Given the description of an element on the screen output the (x, y) to click on. 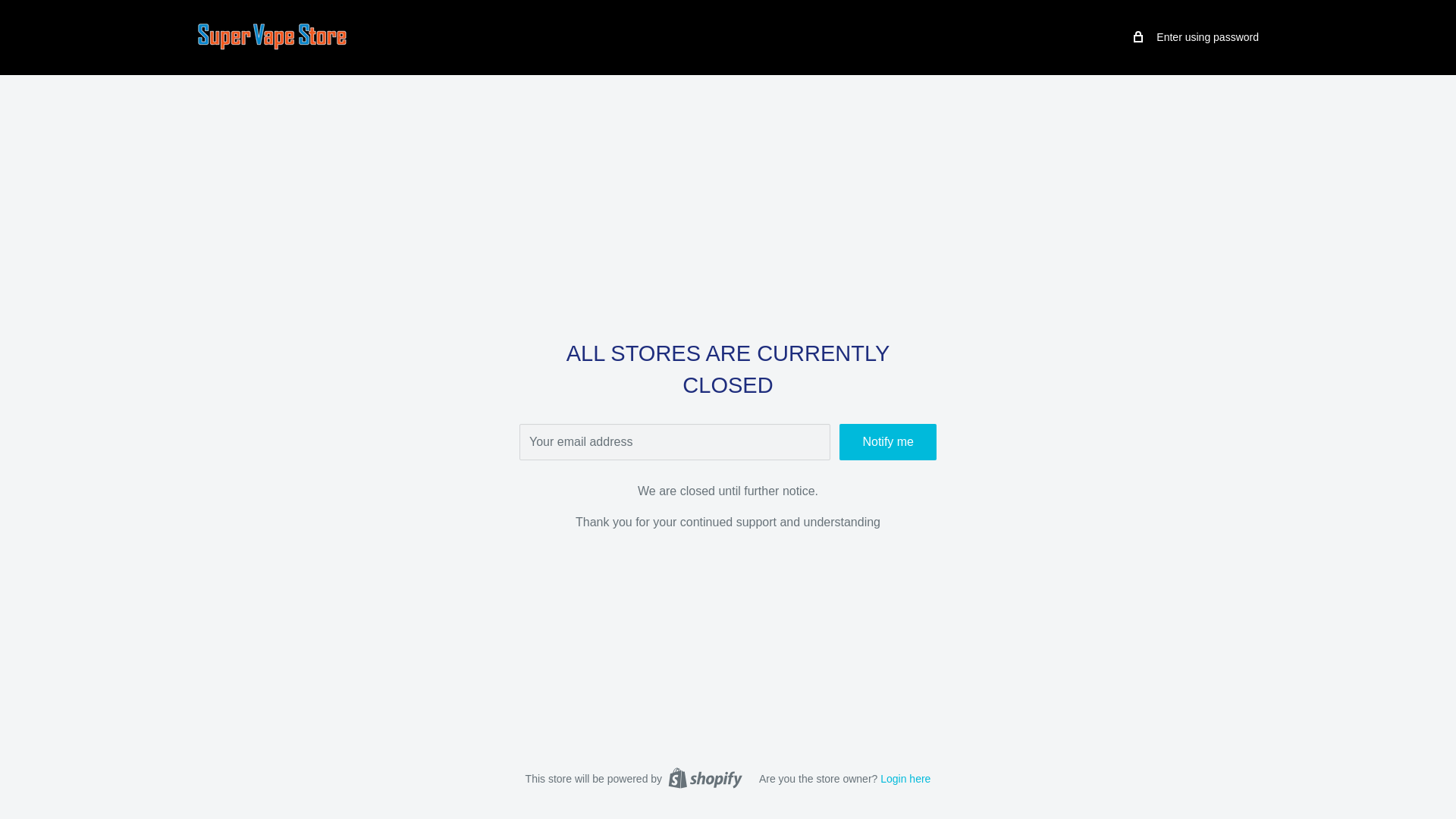
Notify me (888, 442)
Enter using password (1196, 36)
Login here (905, 778)
Create your own online store with Shopify (705, 777)
